Given the description of an element on the screen output the (x, y) to click on. 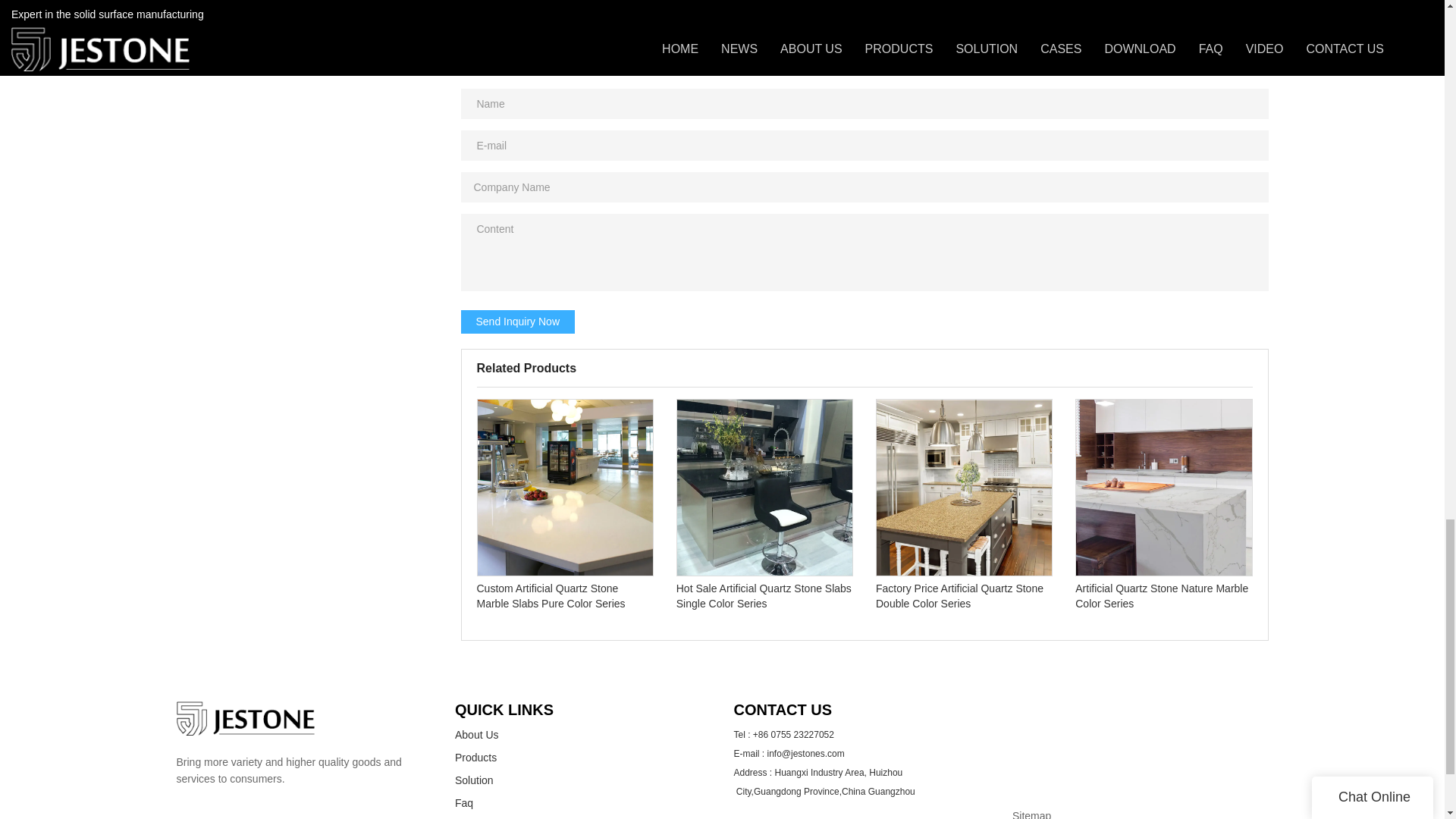
Send Inquiry Now (518, 321)
